Given the description of an element on the screen output the (x, y) to click on. 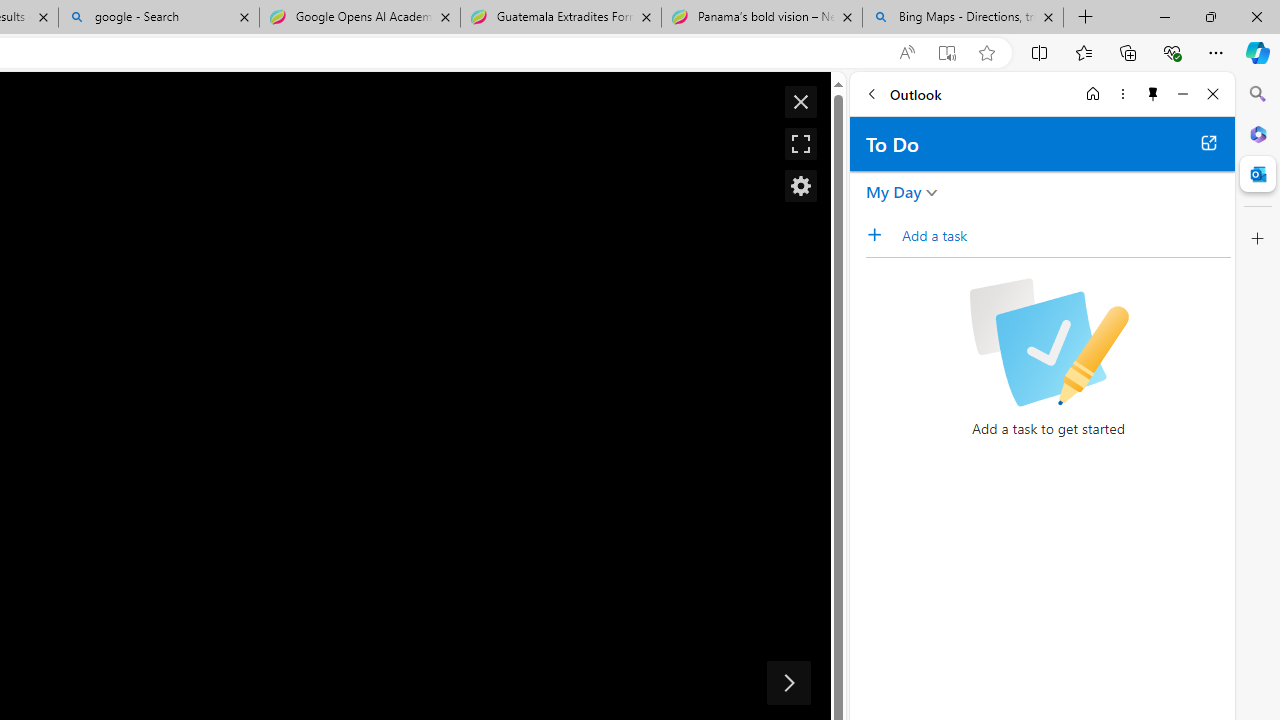
Add a task (881, 235)
Close this tool (Esc) (800, 101)
Google Opens AI Academy for Startups - Nearshore Americas (359, 17)
